Given the description of an element on the screen output the (x, y) to click on. 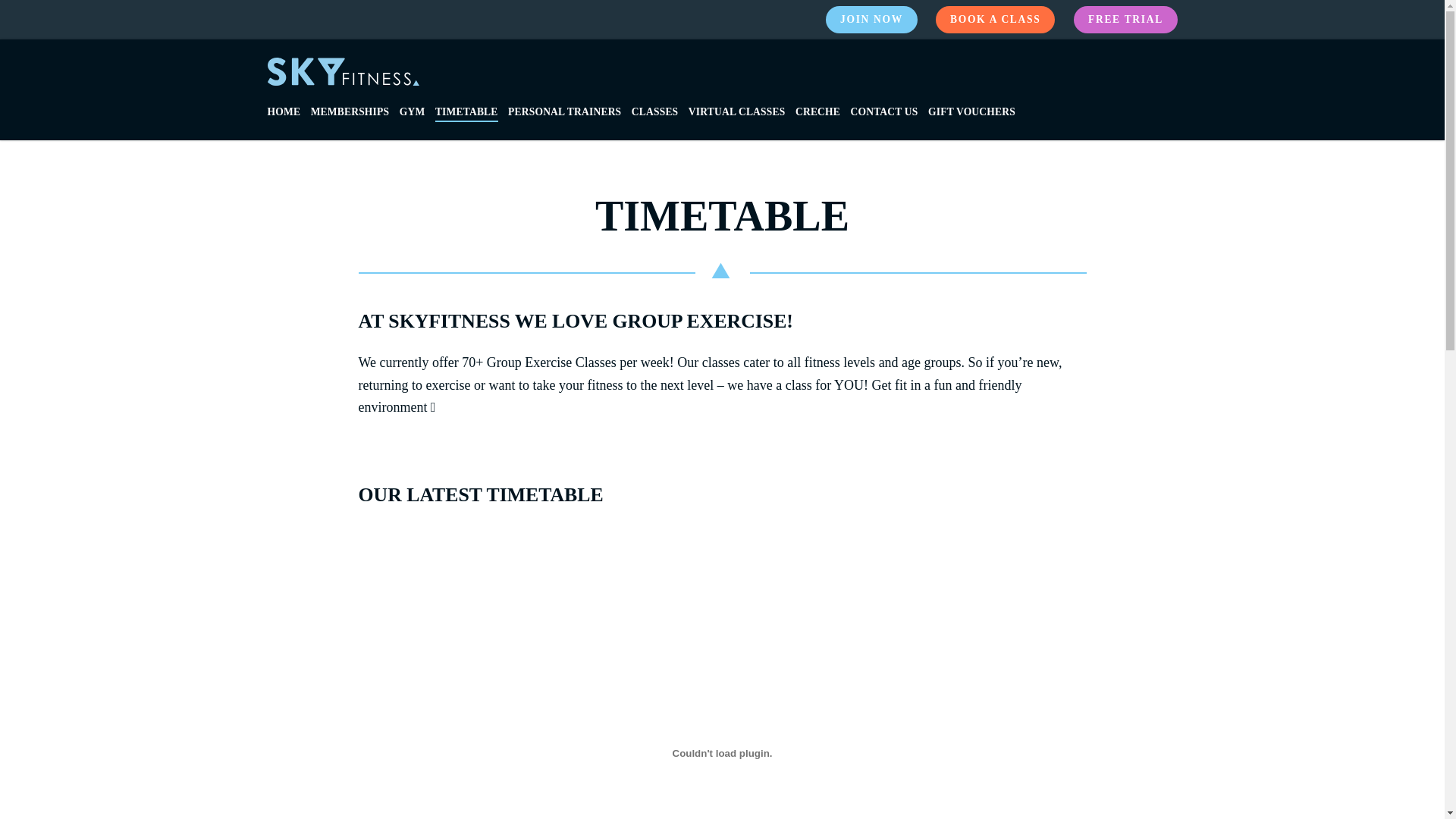
FREE TRIAL Element type: text (1125, 19)
GIFT VOUCHERS Element type: text (971, 112)
BOOK A CLASS Element type: text (994, 19)
TIMETABLE Element type: text (466, 112)
MEMBERSHIPS Element type: text (349, 112)
PERSONAL TRAINERS Element type: text (564, 112)
CLASSES Element type: text (654, 112)
VIRTUAL CLASSES Element type: text (736, 112)
HOME Element type: text (283, 112)
CONTACT US Element type: text (884, 112)
CRECHE Element type: text (817, 112)
GYM Element type: text (412, 112)
JOIN NOW Element type: text (871, 19)
